Given the description of an element on the screen output the (x, y) to click on. 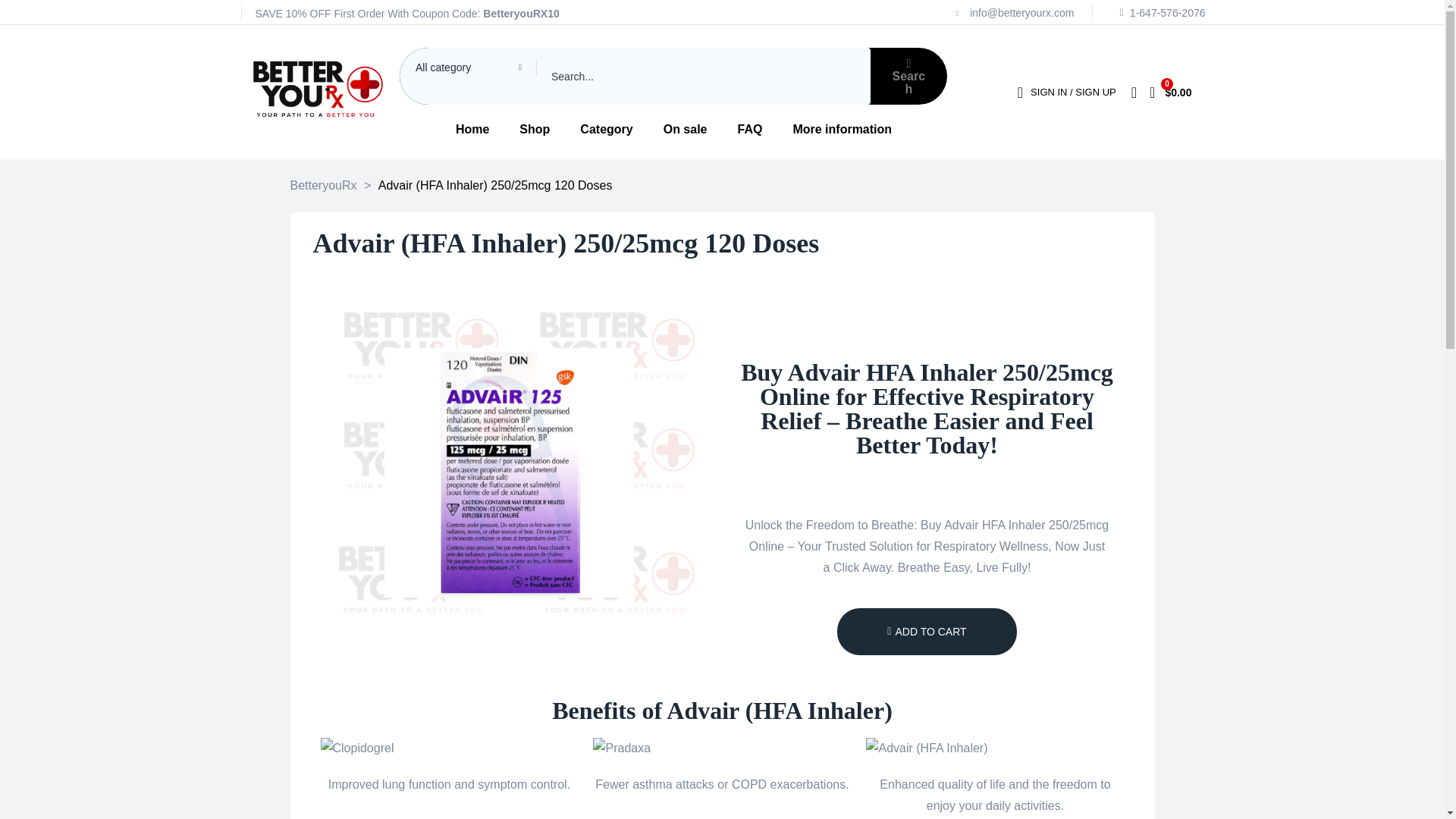
Search (634, 75)
All category (468, 67)
Go to BetteryouRx. (322, 185)
All category (468, 67)
1-647-576-2076 (1157, 12)
